Given the description of an element on the screen output the (x, y) to click on. 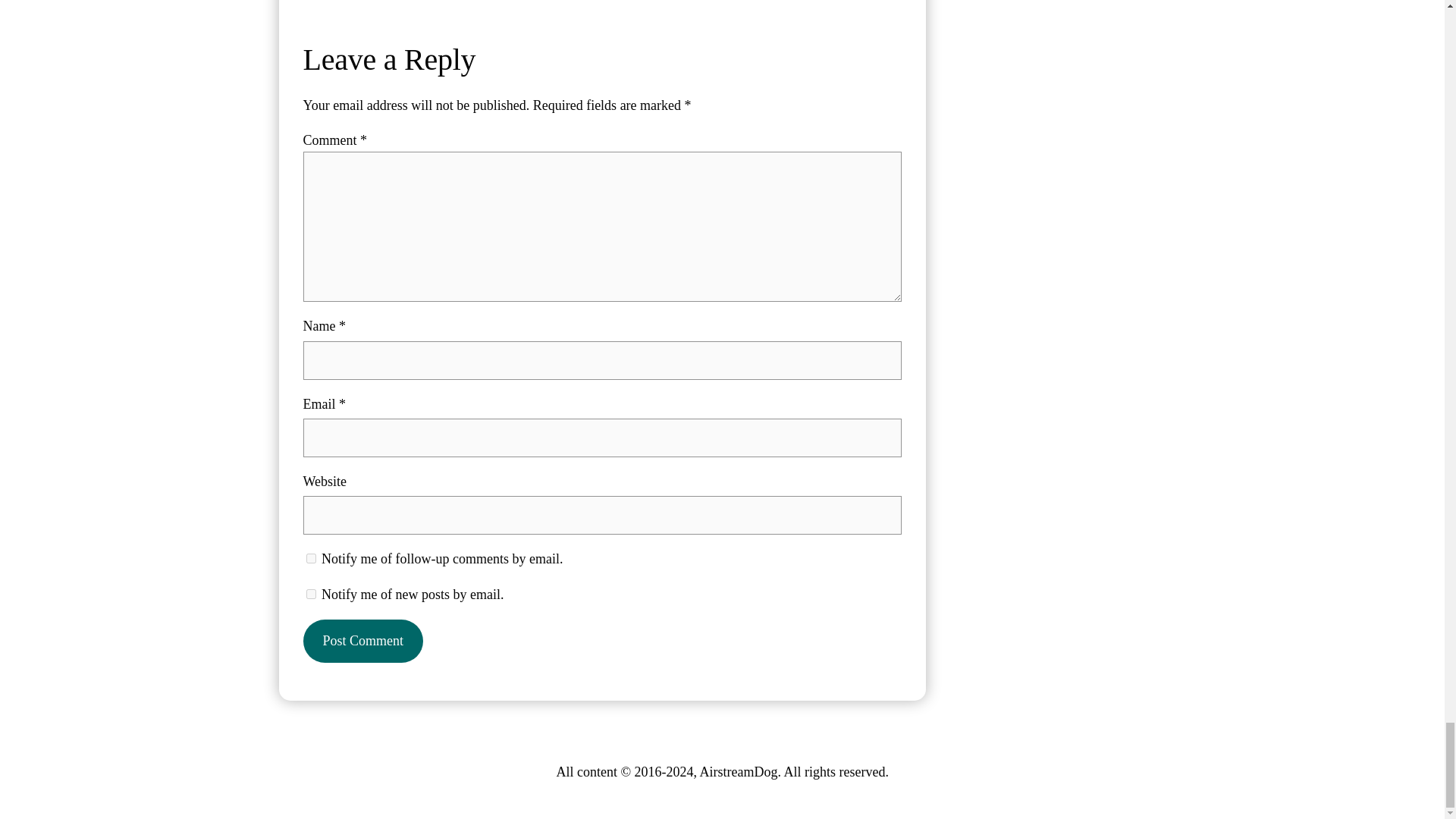
Post Comment (362, 640)
subscribe (310, 558)
subscribe (310, 593)
